Given the description of an element on the screen output the (x, y) to click on. 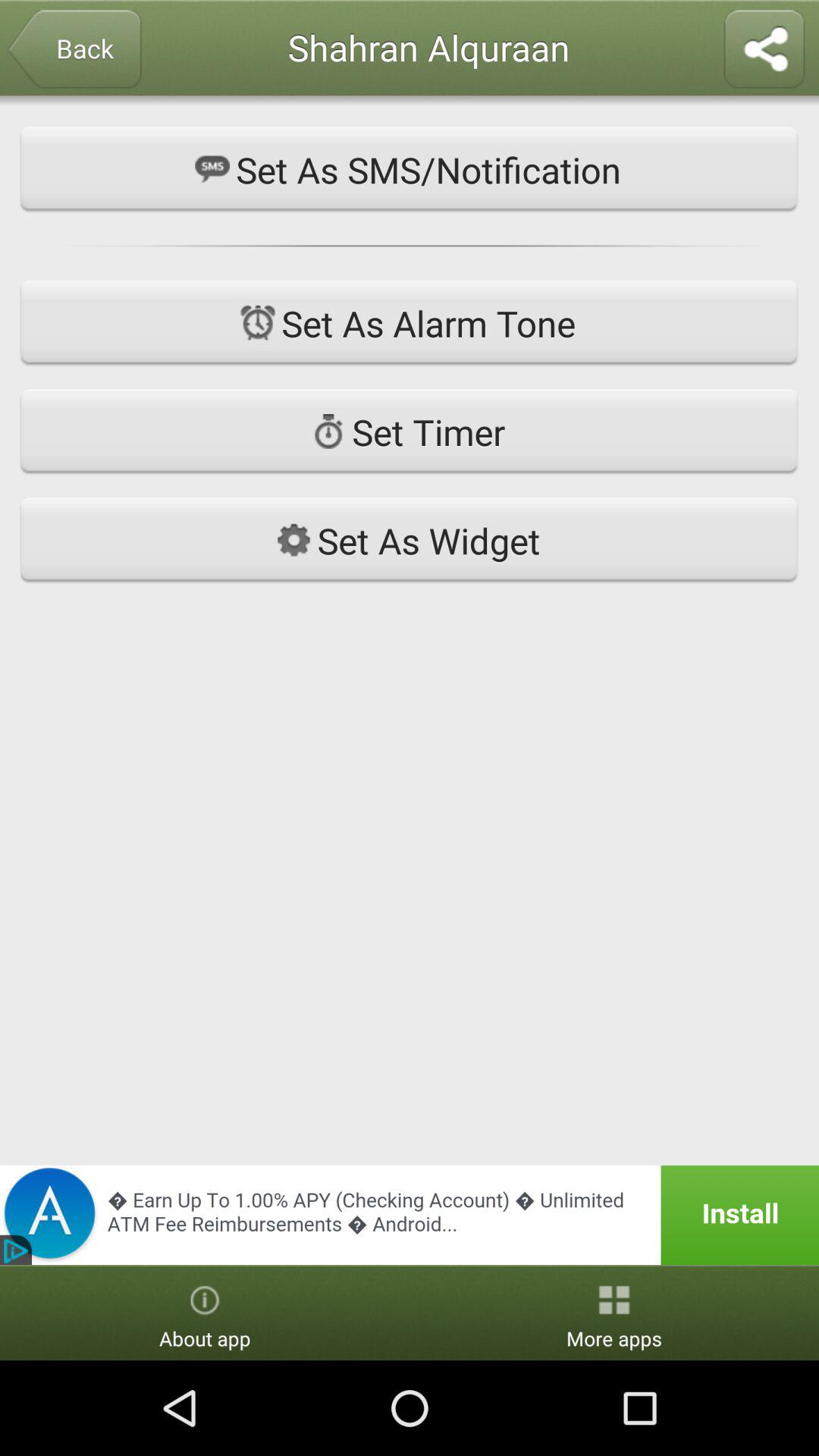
share link (764, 50)
